Given the description of an element on the screen output the (x, y) to click on. 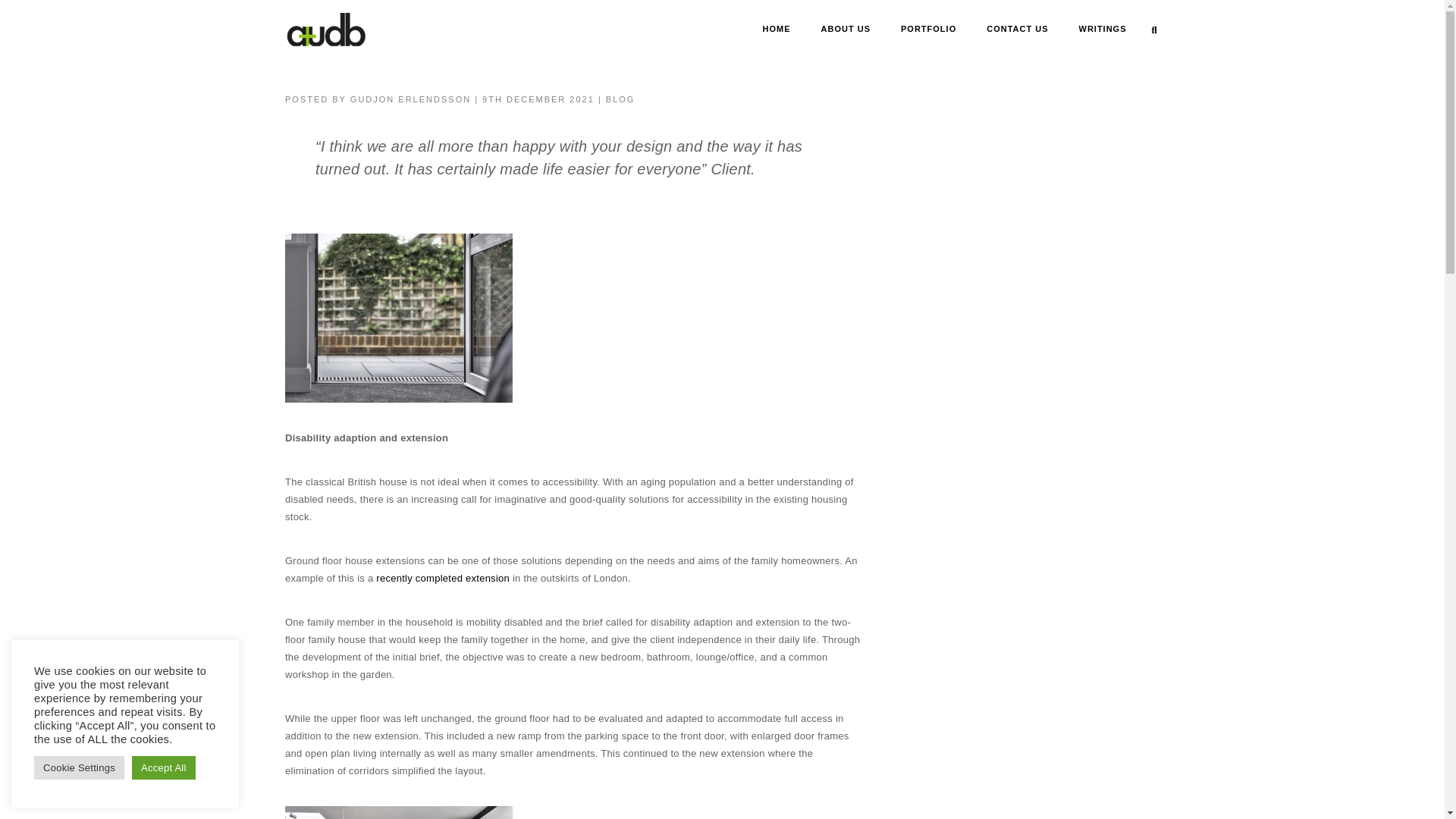
CONTACT US (1017, 29)
Accept All (163, 767)
Cookie Settings (78, 767)
WRITINGS (1101, 29)
recently completed extension (442, 577)
HOME (776, 29)
PORTFOLIO (928, 29)
GUDJON ERLENDSSON (410, 99)
BLOG (619, 99)
ABOUT US (845, 29)
